Given the description of an element on the screen output the (x, y) to click on. 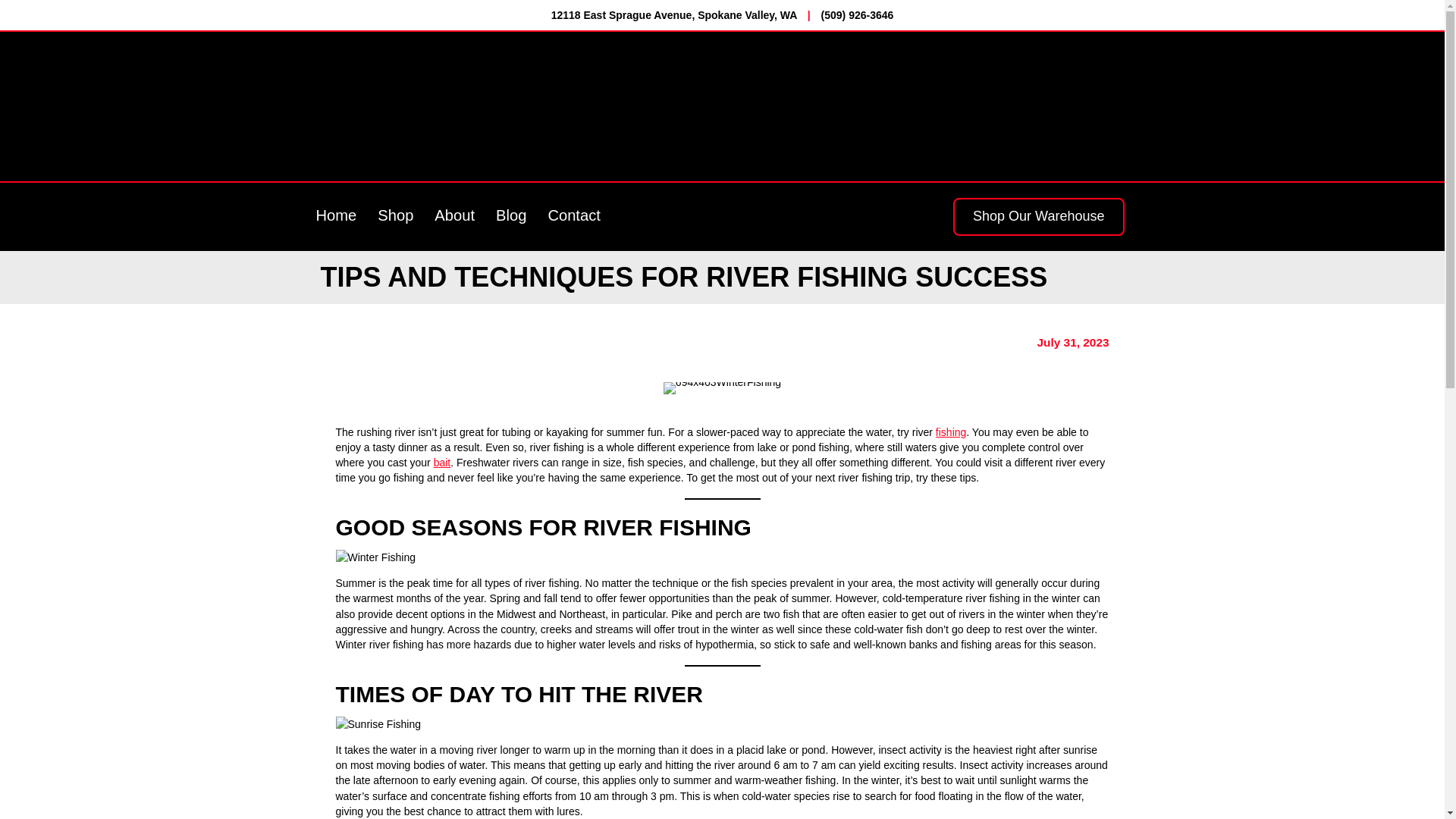
logo-ph-slogan (784, 106)
Home (335, 216)
About (453, 216)
logo-ph-simple (471, 106)
694x463WinterFishing (721, 387)
Shop Our Warehouse (1038, 216)
bait (442, 462)
Shop (394, 216)
Blog (510, 216)
fishing (951, 431)
